Given the description of an element on the screen output the (x, y) to click on. 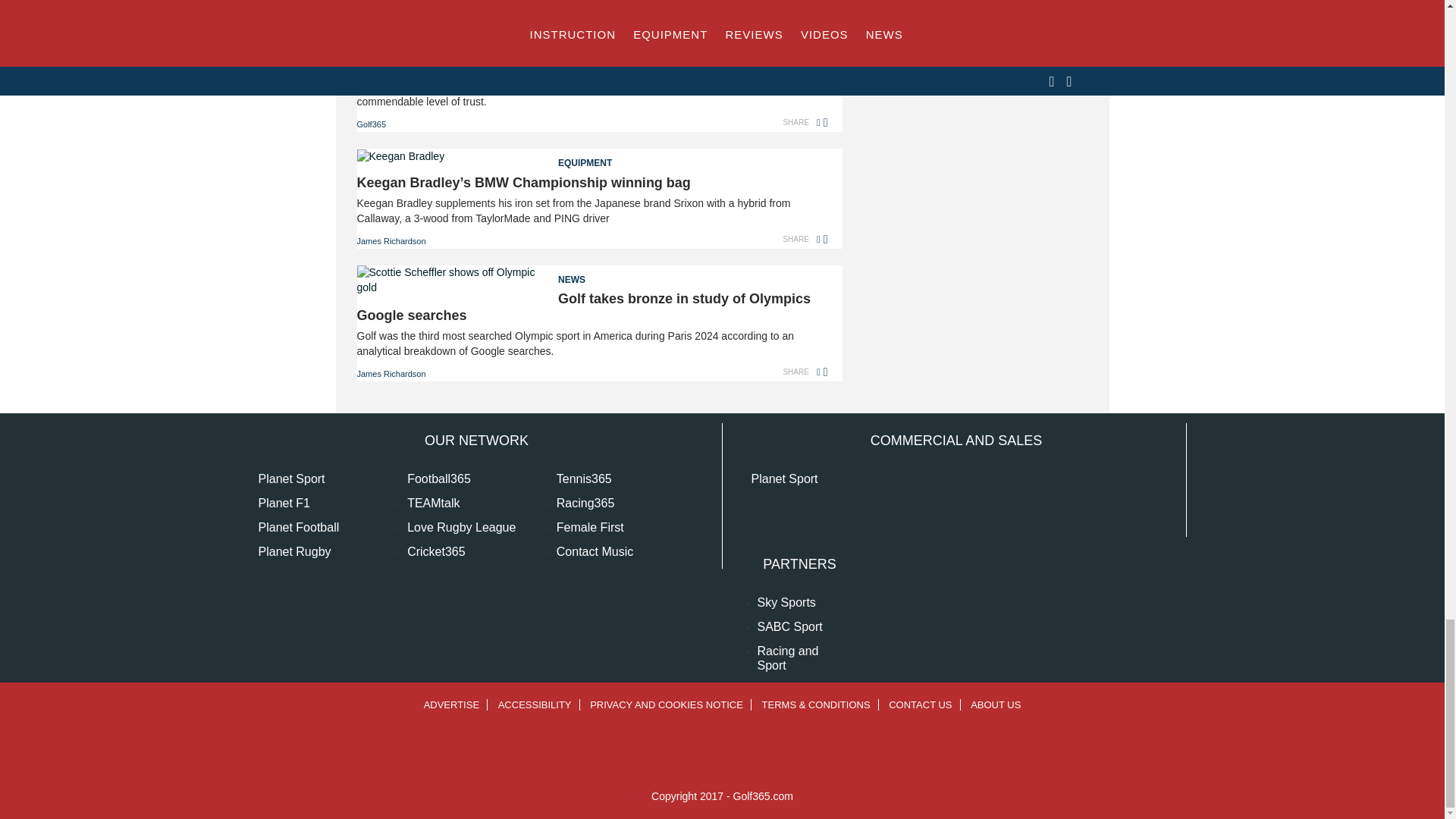
News (591, 275)
Equipment (591, 158)
Videos (591, 42)
